Given the description of an element on the screen output the (x, y) to click on. 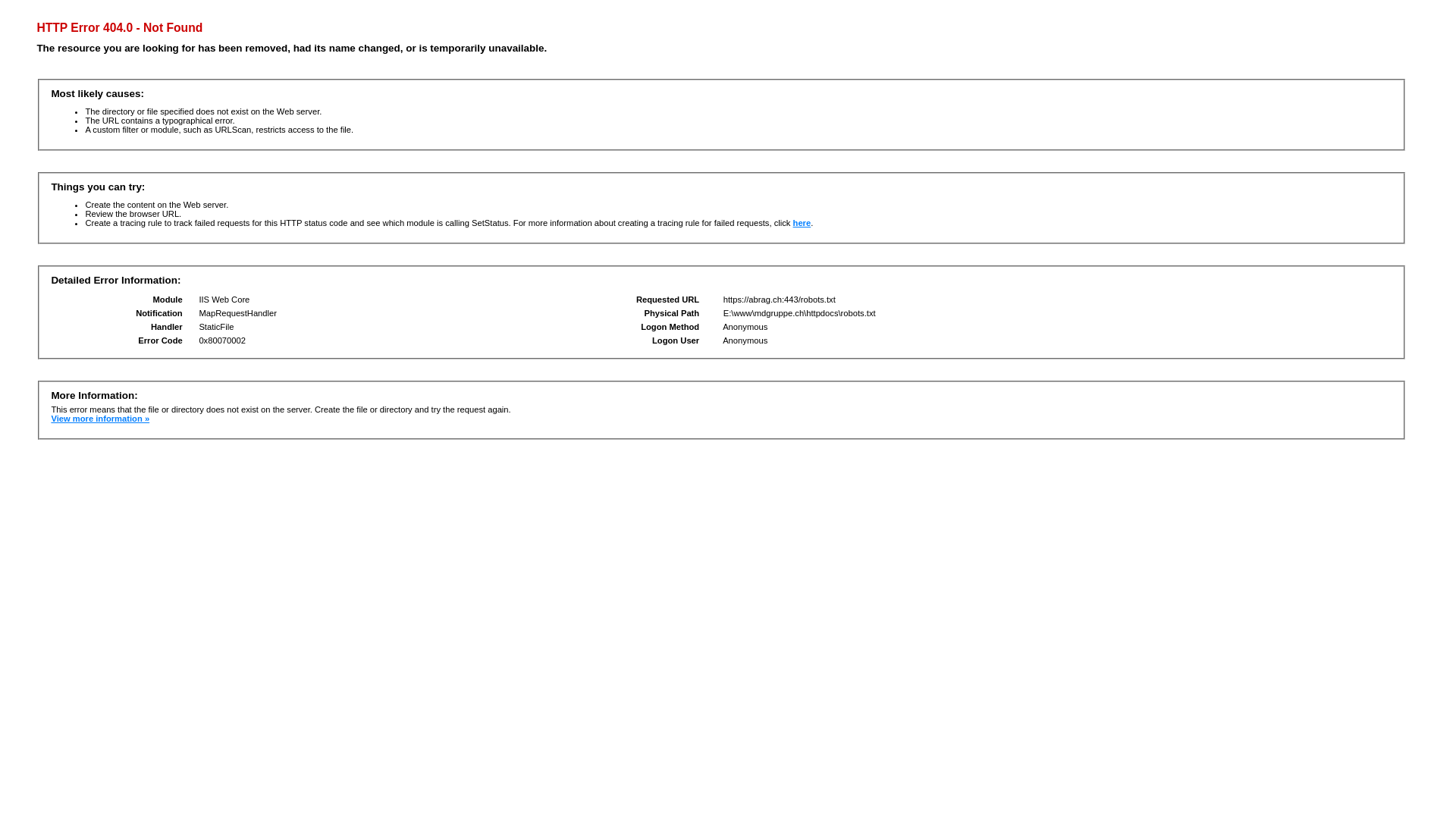
here Element type: text (802, 222)
